Given the description of an element on the screen output the (x, y) to click on. 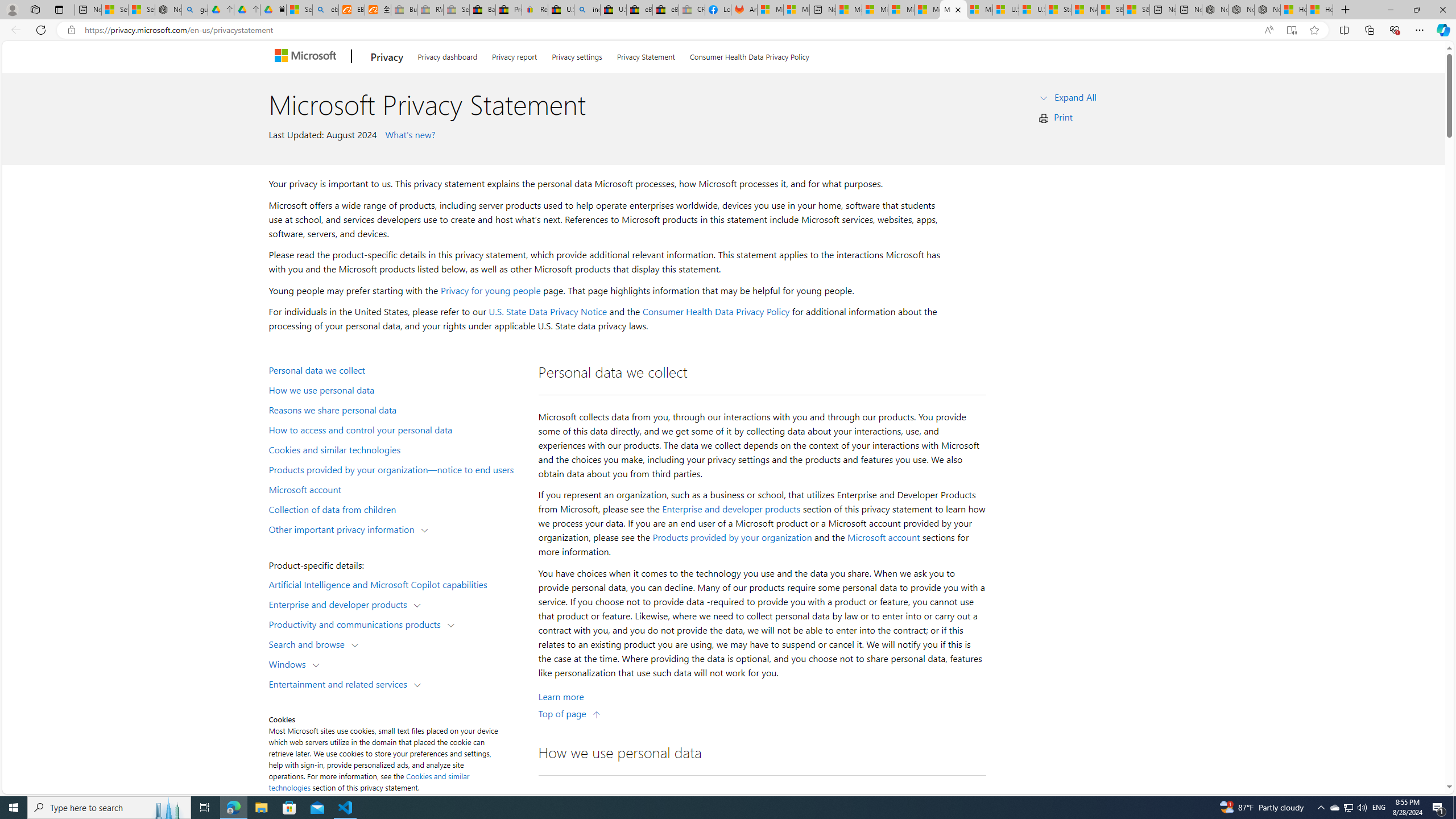
Buy Auto Parts & Accessories | eBay - Sleeping (403, 9)
eBay Inc. Reports Third Quarter 2023 Results (665, 9)
Consumer Health Data Privacy Policy (716, 311)
Collection of data from children (395, 508)
How we use personal data (395, 389)
Browser essentials (1394, 29)
Tab actions menu (58, 9)
Privacy settings (576, 54)
Privacy Statement (645, 54)
Productivity and communications products (356, 623)
Enterprise and developer products (731, 508)
